Given the description of an element on the screen output the (x, y) to click on. 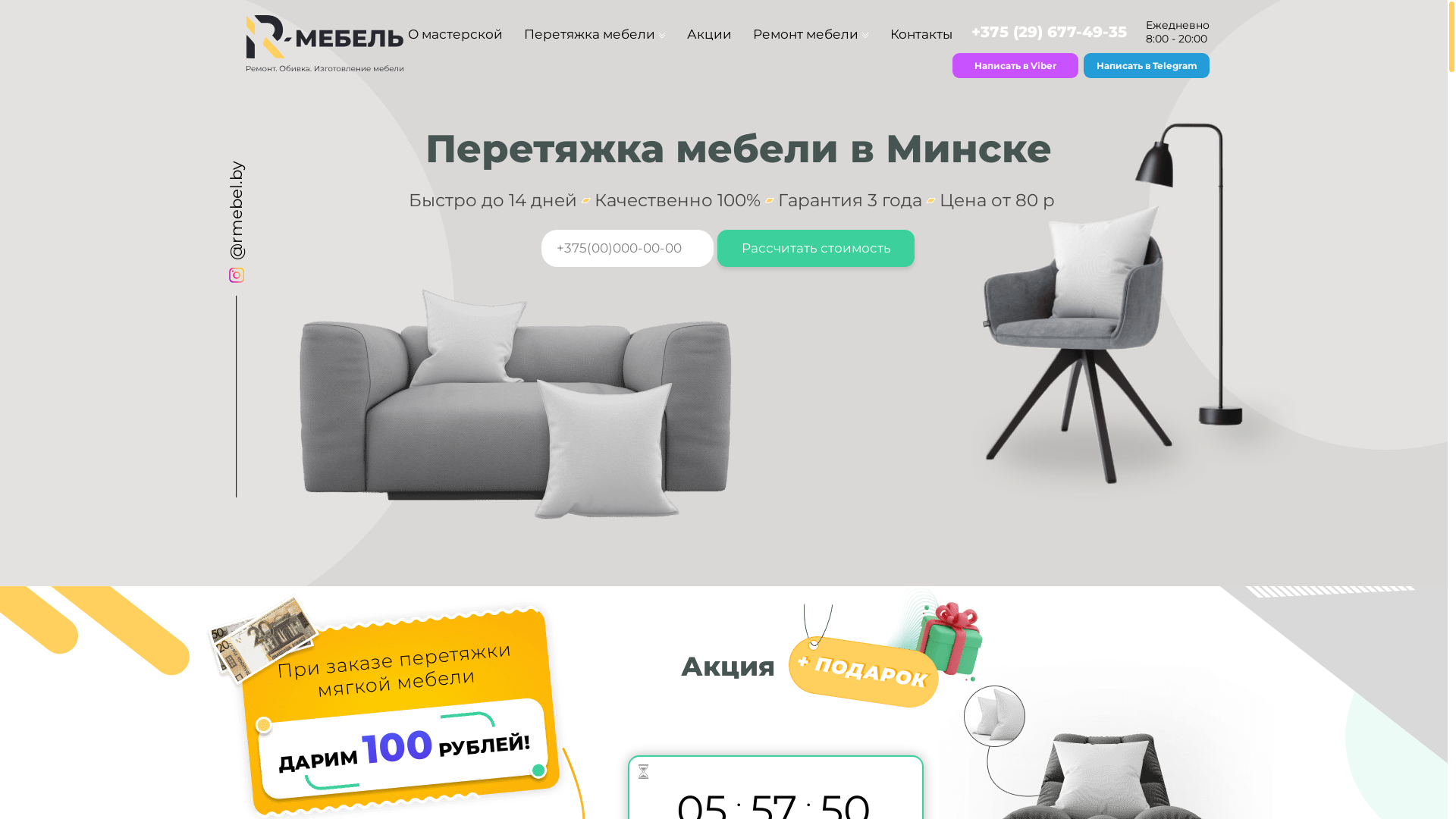
+375 (29) 677-49-35 Element type: text (1048, 31)
@rmebel.by Element type: text (275, 171)
